Given the description of an element on the screen output the (x, y) to click on. 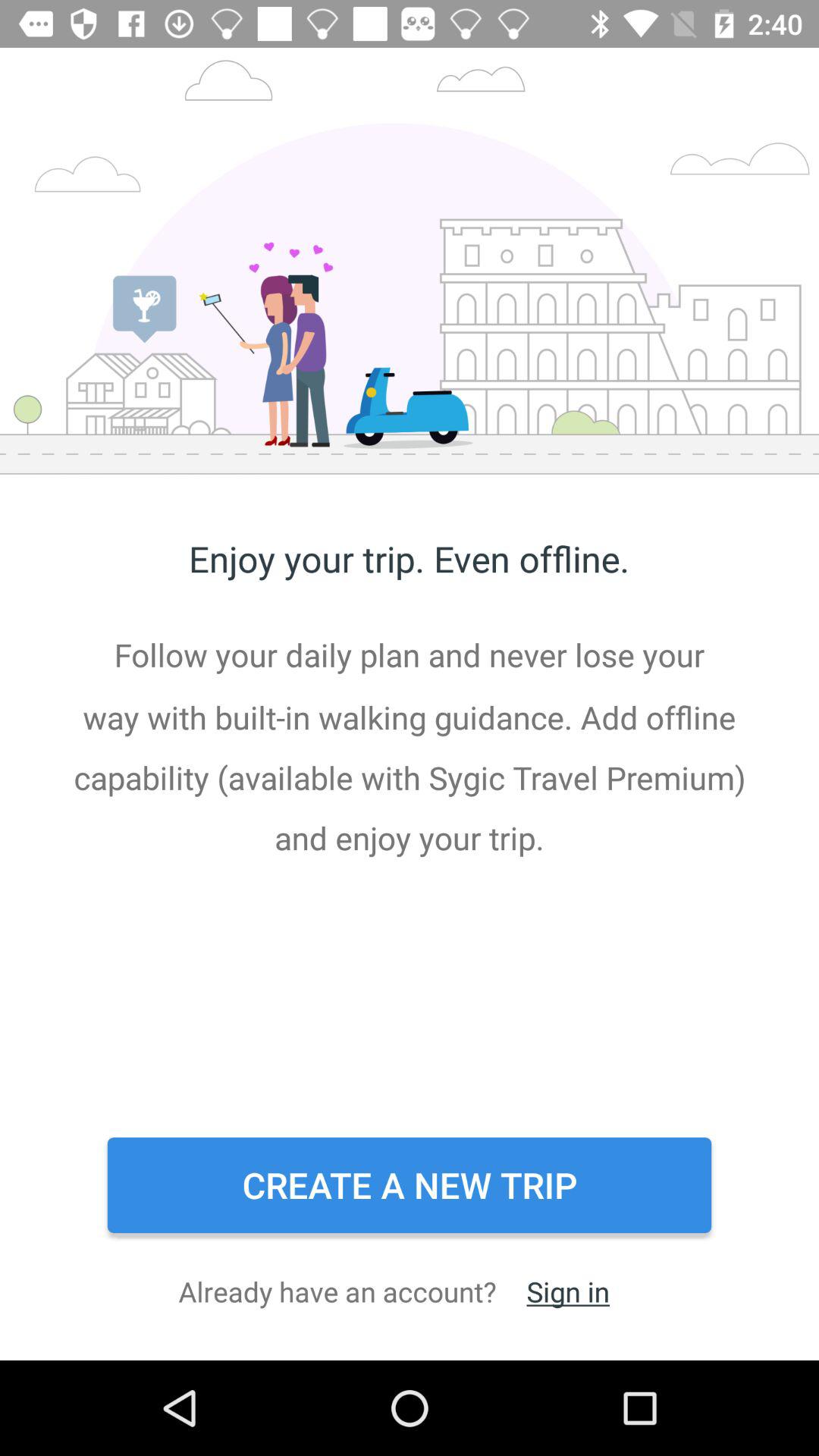
select item below the create a new item (567, 1291)
